Given the description of an element on the screen output the (x, y) to click on. 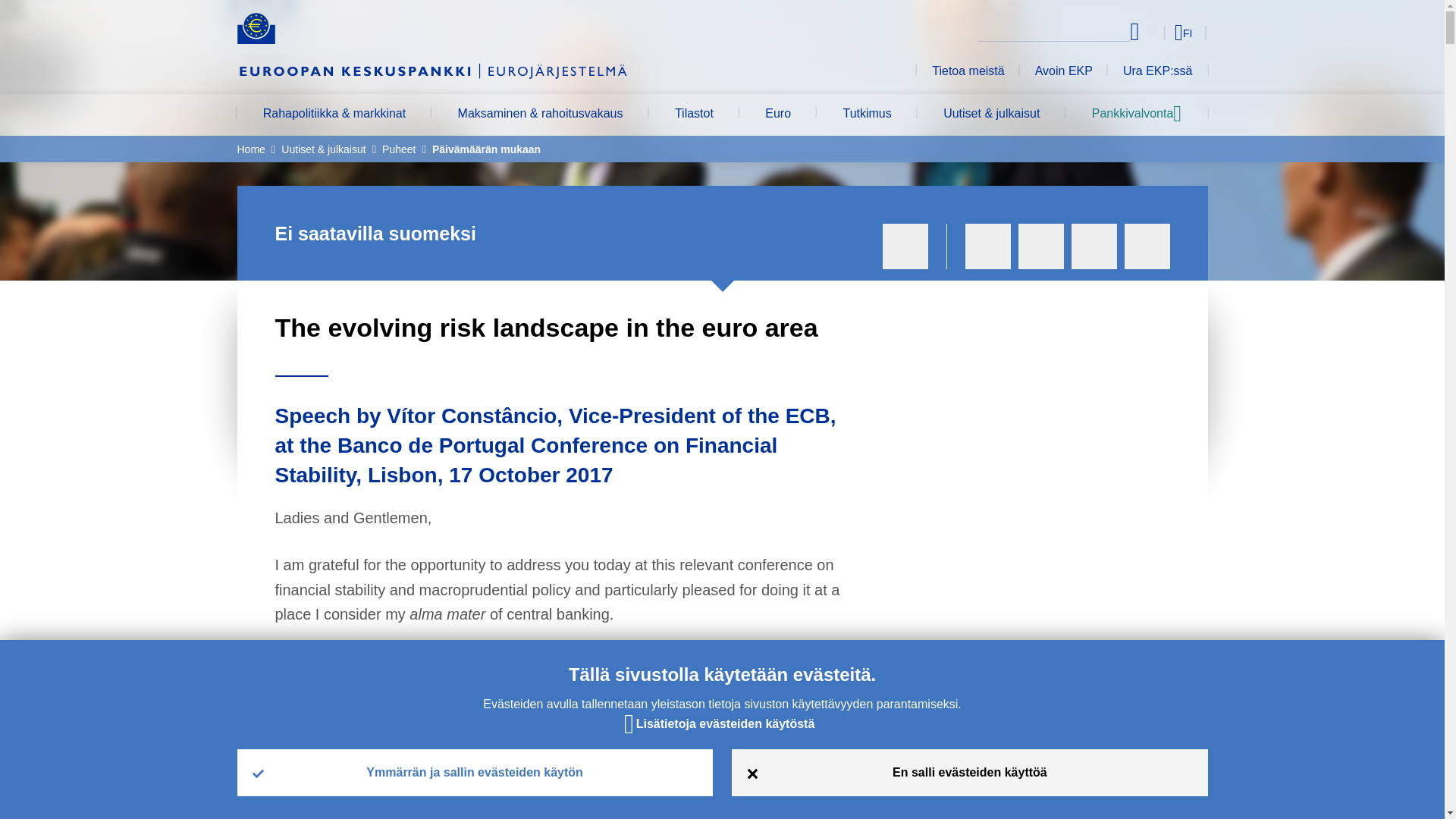
Select language (1153, 32)
